Given the description of an element on the screen output the (x, y) to click on. 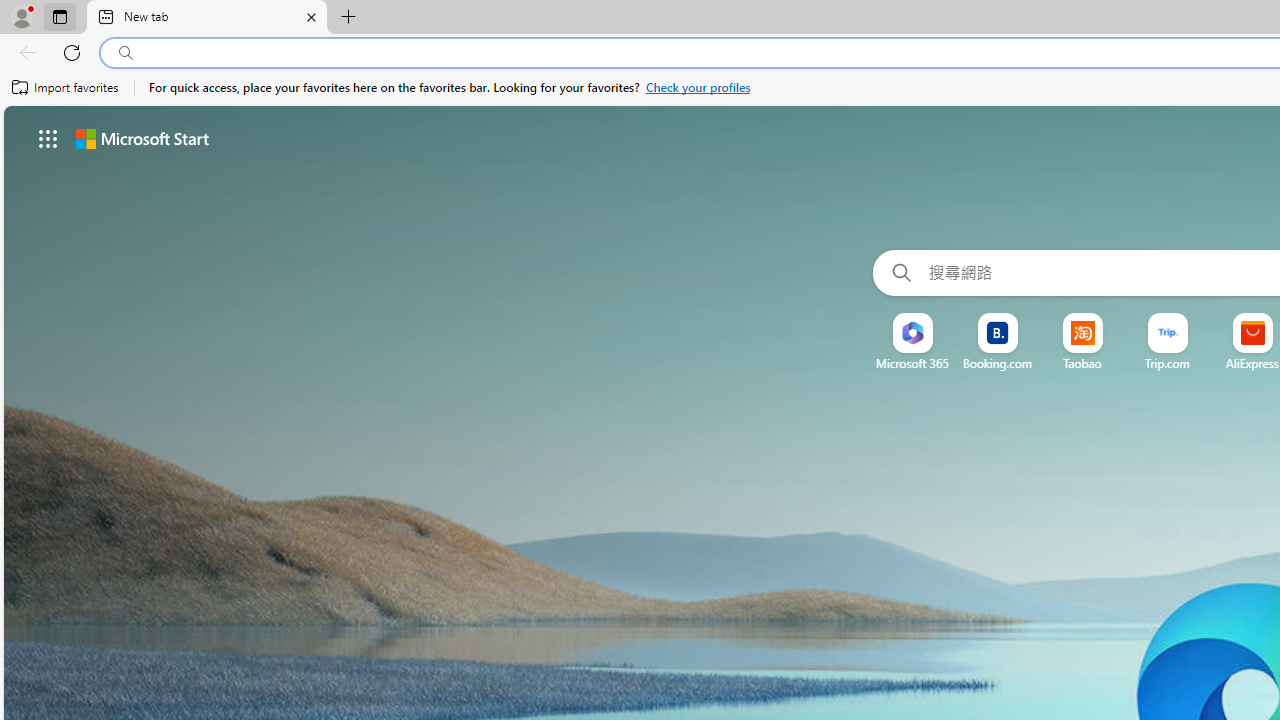
Import favorites (65, 88)
Check your profiles (697, 88)
Search icon (125, 53)
Taobao (1082, 363)
Booking.com (997, 363)
Microsoft start (142, 138)
Trip.com (1167, 363)
